Given the description of an element on the screen output the (x, y) to click on. 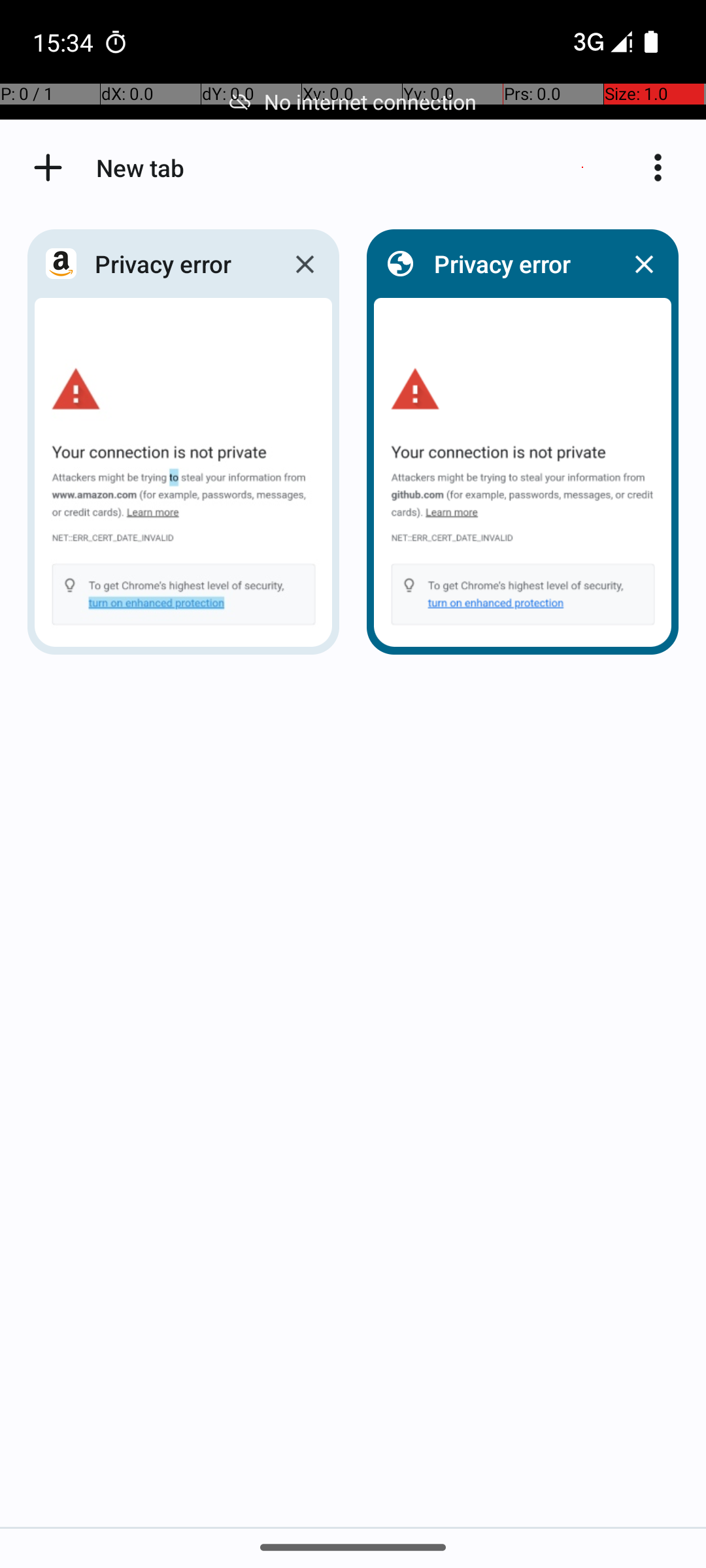
Close Privacy error tab Element type: android.widget.ImageView (304, 263)
